Given the description of an element on the screen output the (x, y) to click on. 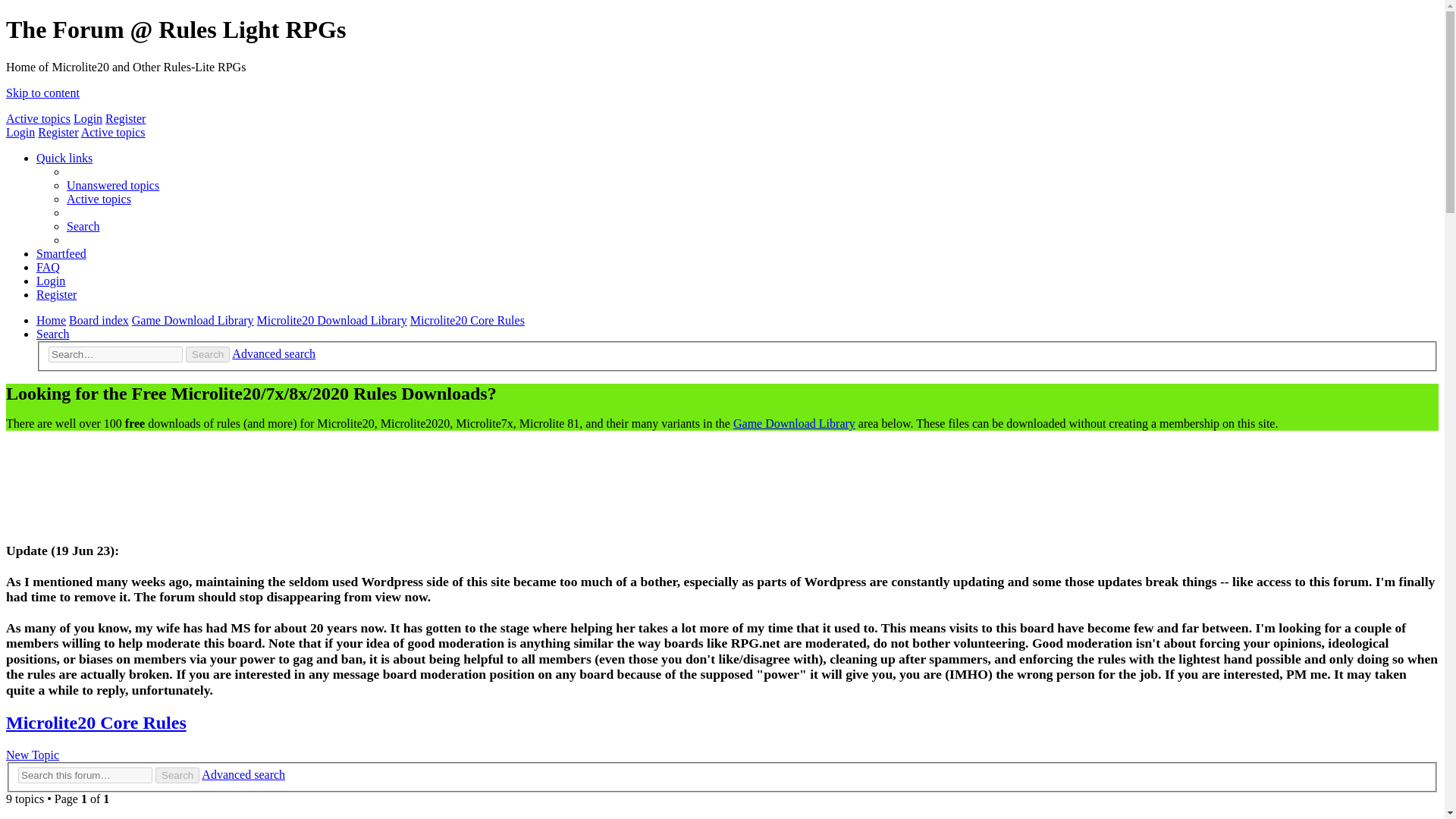
Search (177, 774)
Smartfeed (60, 253)
Microlite20 Core Rules (467, 319)
Advanced search (243, 774)
New Topic (32, 754)
Search (177, 774)
Advanced search (273, 353)
FAQ (47, 267)
Game Download Library (192, 319)
Register (124, 118)
Home (50, 319)
Board index (98, 319)
Login (50, 280)
Login (19, 132)
Skip to content (42, 92)
